Given the description of an element on the screen output the (x, y) to click on. 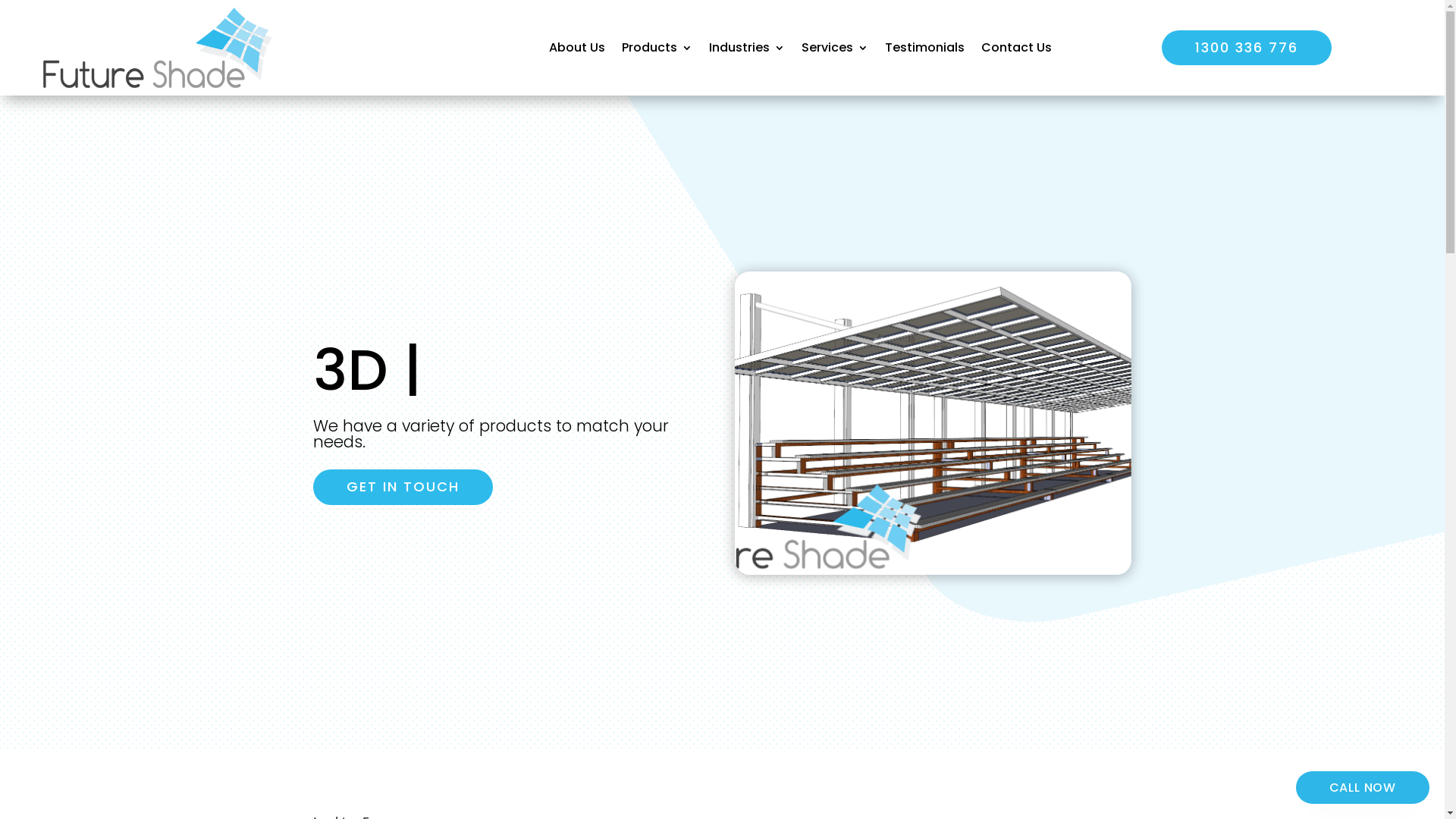
GET IN TOUCH Element type: text (402, 487)
1300 336 776 Element type: text (1246, 47)
Industries Element type: text (746, 47)
CALL NOW Element type: text (1362, 787)
Products Element type: text (656, 47)
Services Element type: text (834, 47)
Contact Us Element type: text (1016, 47)
About Us Element type: text (577, 47)
Testimonials Element type: text (924, 47)
